Given the description of an element on the screen output the (x, y) to click on. 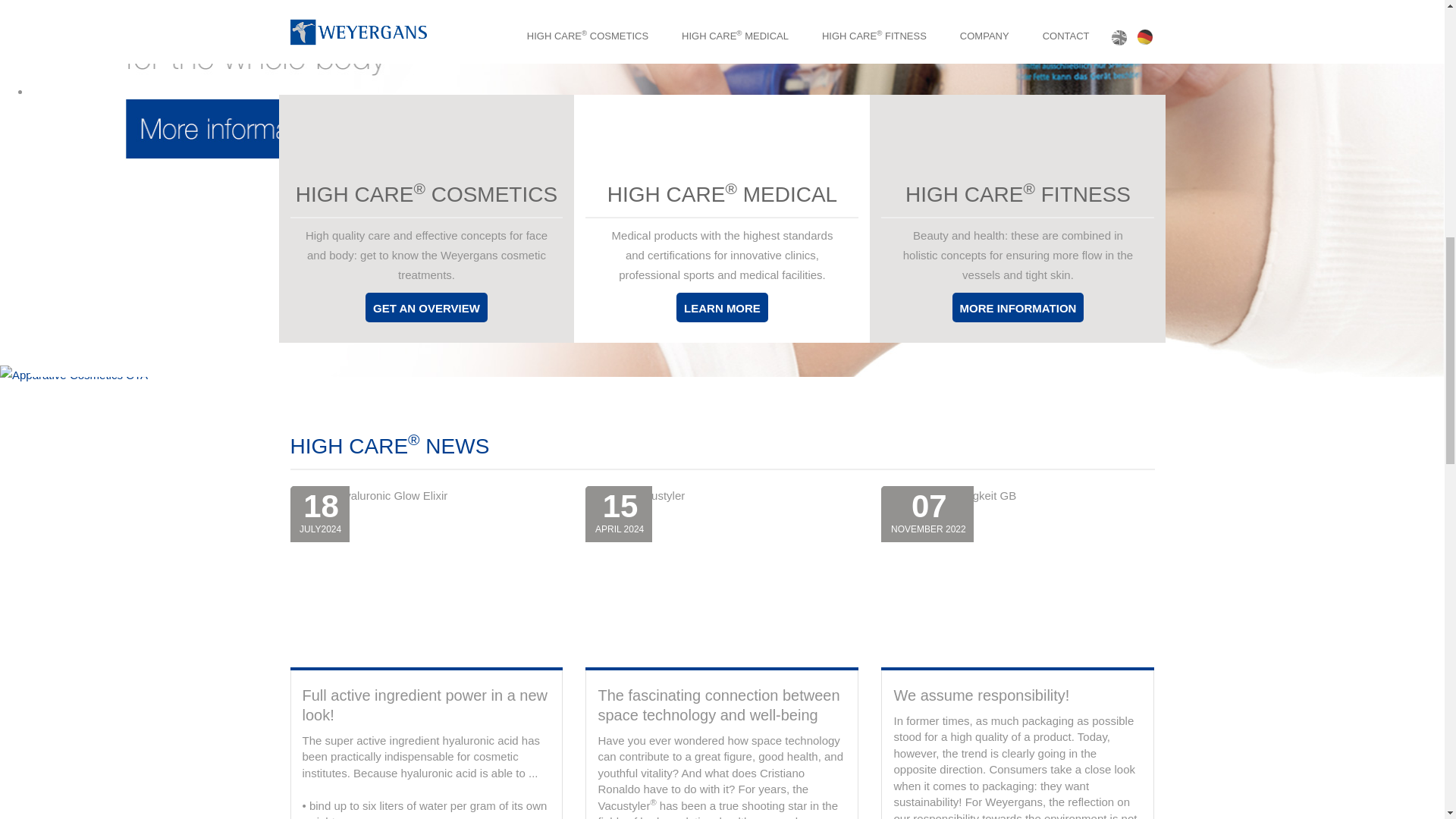
GET AN OVERVIEW (426, 307)
News Nachhaltigkeit GB (1017, 578)
We assume responsibility! (980, 695)
MORE INFORMATION (1018, 307)
Full active ingredient power in a new look! (424, 705)
LEARN MORE (722, 307)
